Given the description of an element on the screen output the (x, y) to click on. 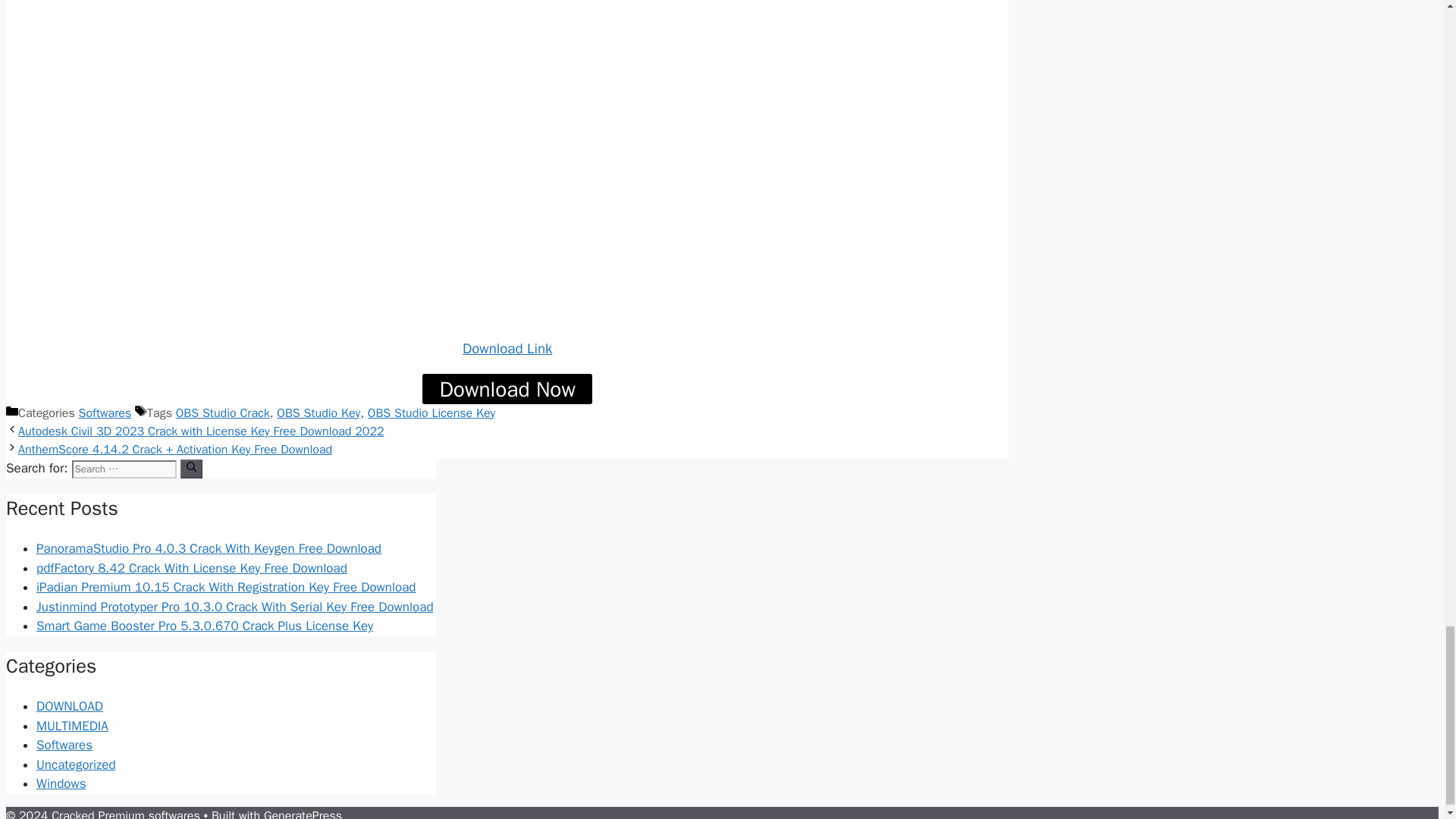
Download Link (507, 348)
Search for: (123, 469)
pdfFactory 8.42 Crack With License Key Free Download (191, 568)
Smart Game Booster Pro 5.3.0.670 Crack Plus License Key (204, 625)
OBS Studio License Key (431, 412)
Softwares (105, 412)
OBS Studio Key (317, 412)
Download Now (506, 388)
